Given the description of an element on the screen output the (x, y) to click on. 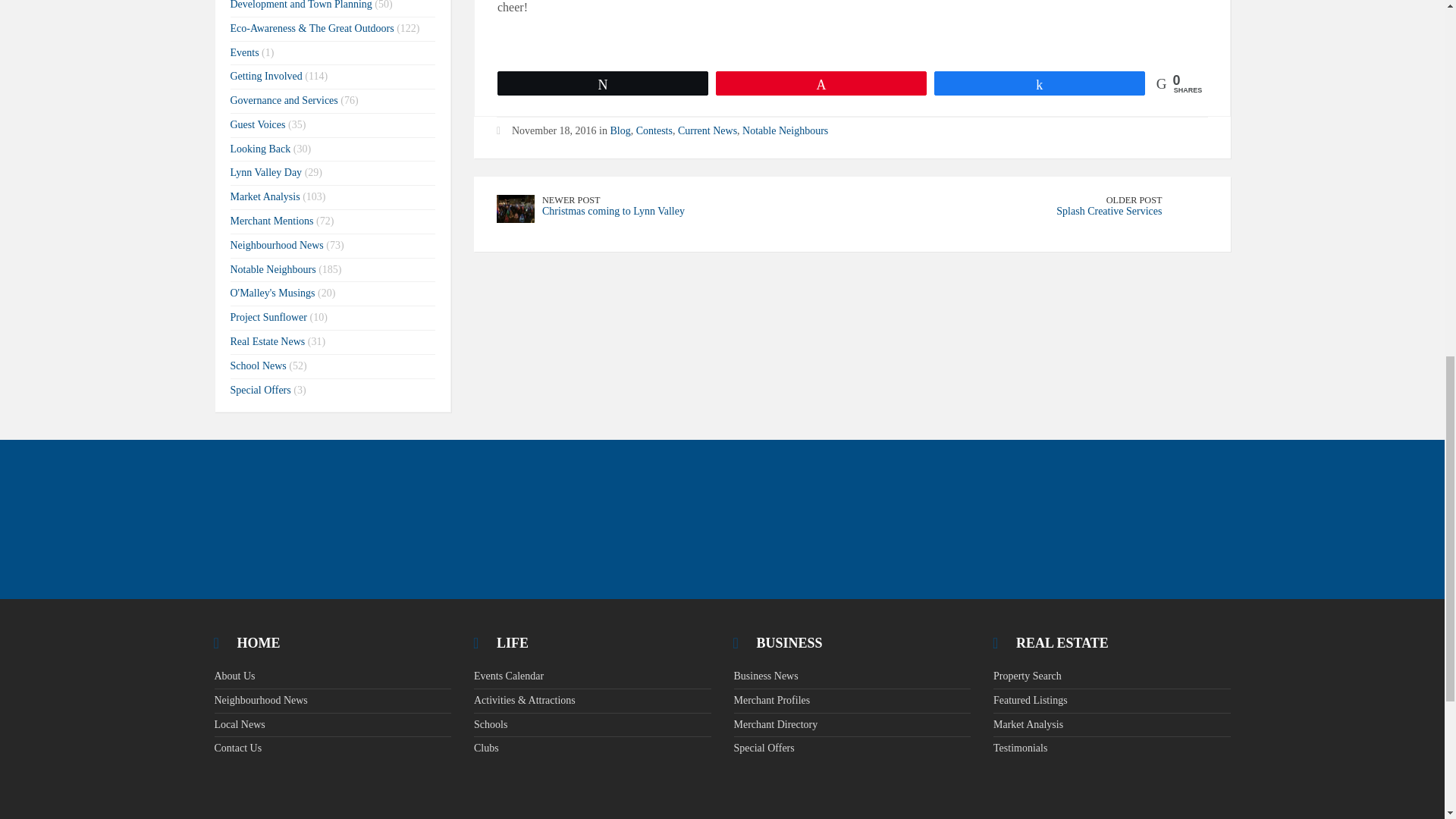
Current News (707, 130)
Blog (620, 130)
Contests (654, 130)
Notable Neighbours (785, 130)
